Given the description of an element on the screen output the (x, y) to click on. 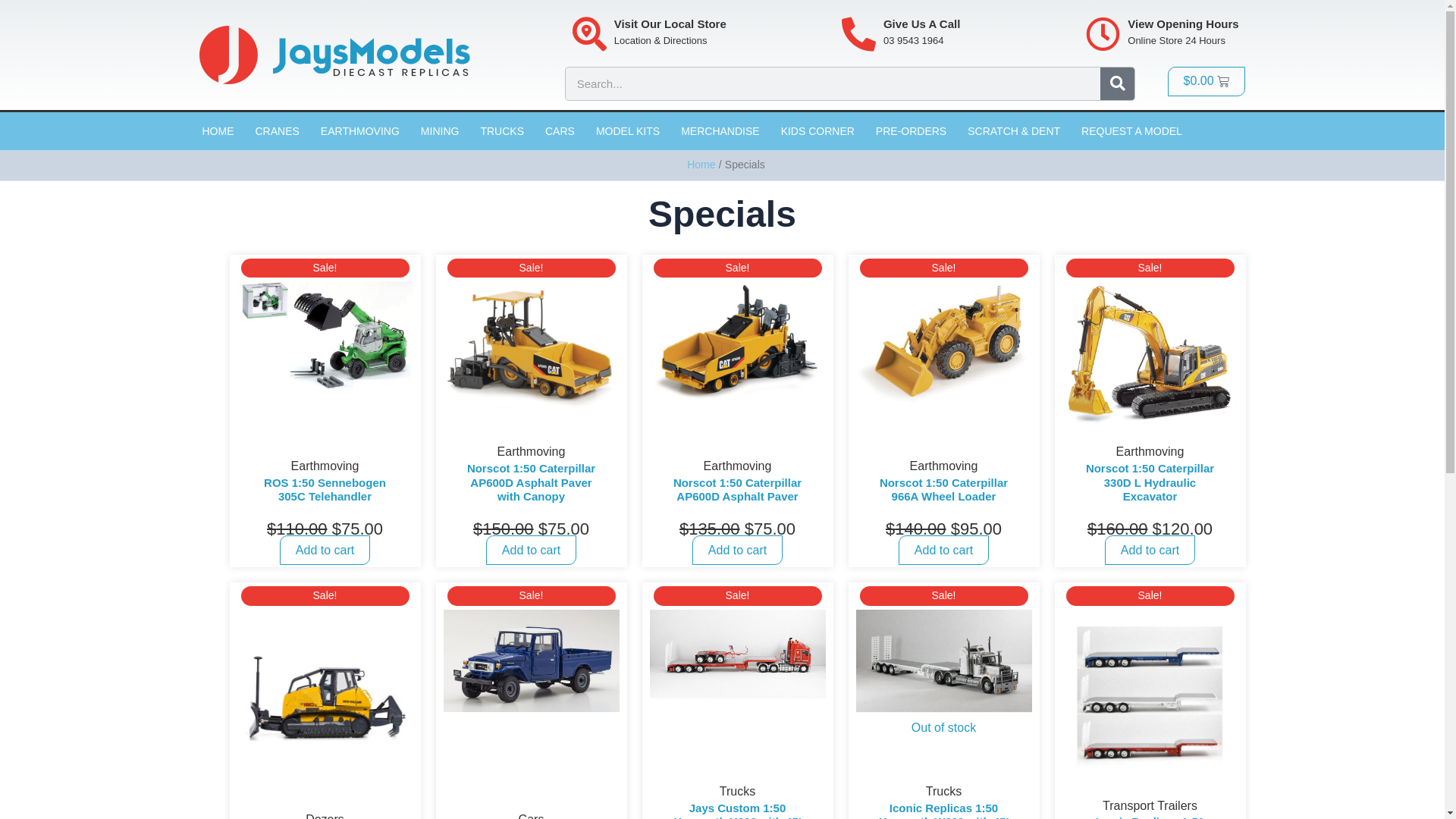
MERCHANDISE Element type: text (719, 131)
HOME Element type: text (217, 131)
PRE-ORDERS Element type: text (911, 131)
Norscot 1:50 Caterpillar AP600D Asphalt Paver Element type: text (737, 514)
Add to cart Element type: text (531, 549)
View Opening Hours Element type: text (1182, 23)
Add to cart Element type: text (943, 549)
Give Us A Call Element type: text (921, 23)
Out of stock Element type: text (943, 673)
Home Element type: text (701, 164)
Search Element type: text (1117, 82)
Add to cart Element type: text (1149, 549)
Visit Our Local Store Element type: text (670, 23)
$0.00
Cart Element type: text (1206, 81)
CRANES Element type: text (276, 131)
ROS 1:50 Sennebogen 305C Telehandler Element type: text (324, 514)
Norscot 1:50 Caterpillar 330D L Hydraulic Excavator Element type: text (1149, 507)
Norscot 1:50 Caterpillar AP600D Asphalt Paver with Canopy Element type: text (531, 507)
KIDS CORNER Element type: text (817, 131)
Add to cart Element type: text (324, 549)
Norscot 1:50 Caterpillar 966A Wheel Loader Element type: text (943, 514)
REQUEST A MODEL Element type: text (1131, 131)
TRUCKS Element type: text (501, 131)
EARTHMOVING Element type: text (360, 131)
MINING Element type: text (440, 131)
MODEL KITS Element type: text (627, 131)
CARS Element type: text (559, 131)
SCRATCH & DENT Element type: text (1013, 131)
Add to cart Element type: text (737, 549)
